Given the description of an element on the screen output the (x, y) to click on. 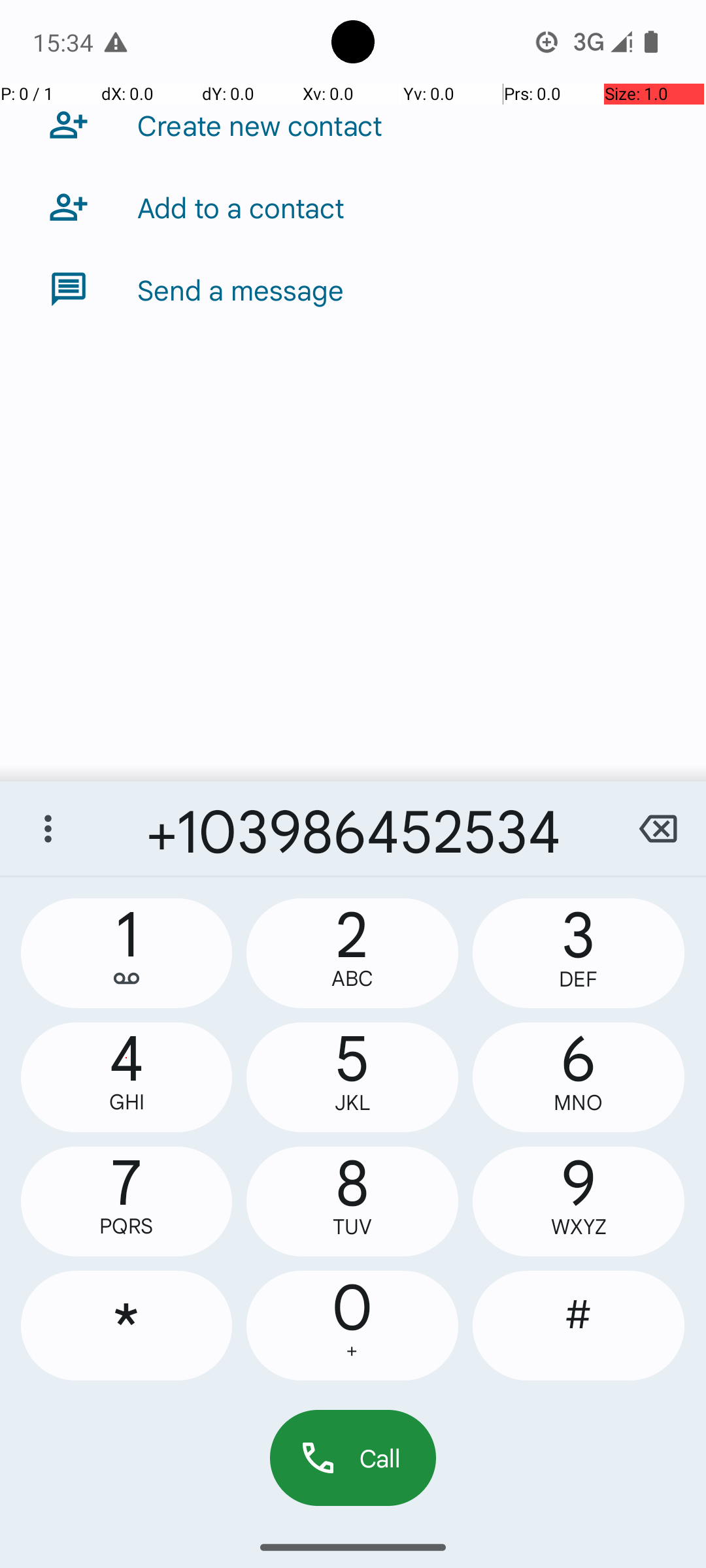
Call Element type: android.widget.Button (352, 1457)
+103986452534 Element type: android.widget.EditText (352, 828)
backspace Element type: android.widget.ImageButton (657, 828)
1, Element type: android.widget.FrameLayout (126, 953)
2,ABC Element type: android.widget.FrameLayout (352, 953)
3,DEF Element type: android.widget.FrameLayout (578, 953)
4,GHI Element type: android.widget.FrameLayout (126, 1077)
5,JKL Element type: android.widget.FrameLayout (352, 1077)
6,MNO Element type: android.widget.FrameLayout (578, 1077)
7,PQRS Element type: android.widget.FrameLayout (126, 1201)
8,TUV Element type: android.widget.FrameLayout (352, 1201)
9,WXYZ Element type: android.widget.FrameLayout (578, 1201)
* Element type: android.widget.FrameLayout (126, 1325)
# Element type: android.widget.FrameLayout (578, 1325)
ABC Element type: android.widget.TextView (351, 978)
DEF Element type: android.widget.TextView (578, 978)
GHI Element type: android.widget.TextView (126, 1101)
JKL Element type: android.widget.TextView (351, 1102)
MNO Element type: android.widget.TextView (578, 1102)
PQRS Element type: android.widget.TextView (126, 1225)
TUV Element type: android.widget.TextView (351, 1226)
WXYZ Element type: android.widget.TextView (578, 1226)
+ Element type: android.widget.TextView (351, 1351)
Create new contact Element type: android.widget.TextView (260, 124)
Add to a contact Element type: android.widget.TextView (240, 206)
Send a message Element type: android.widget.TextView (240, 289)
